Given the description of an element on the screen output the (x, y) to click on. 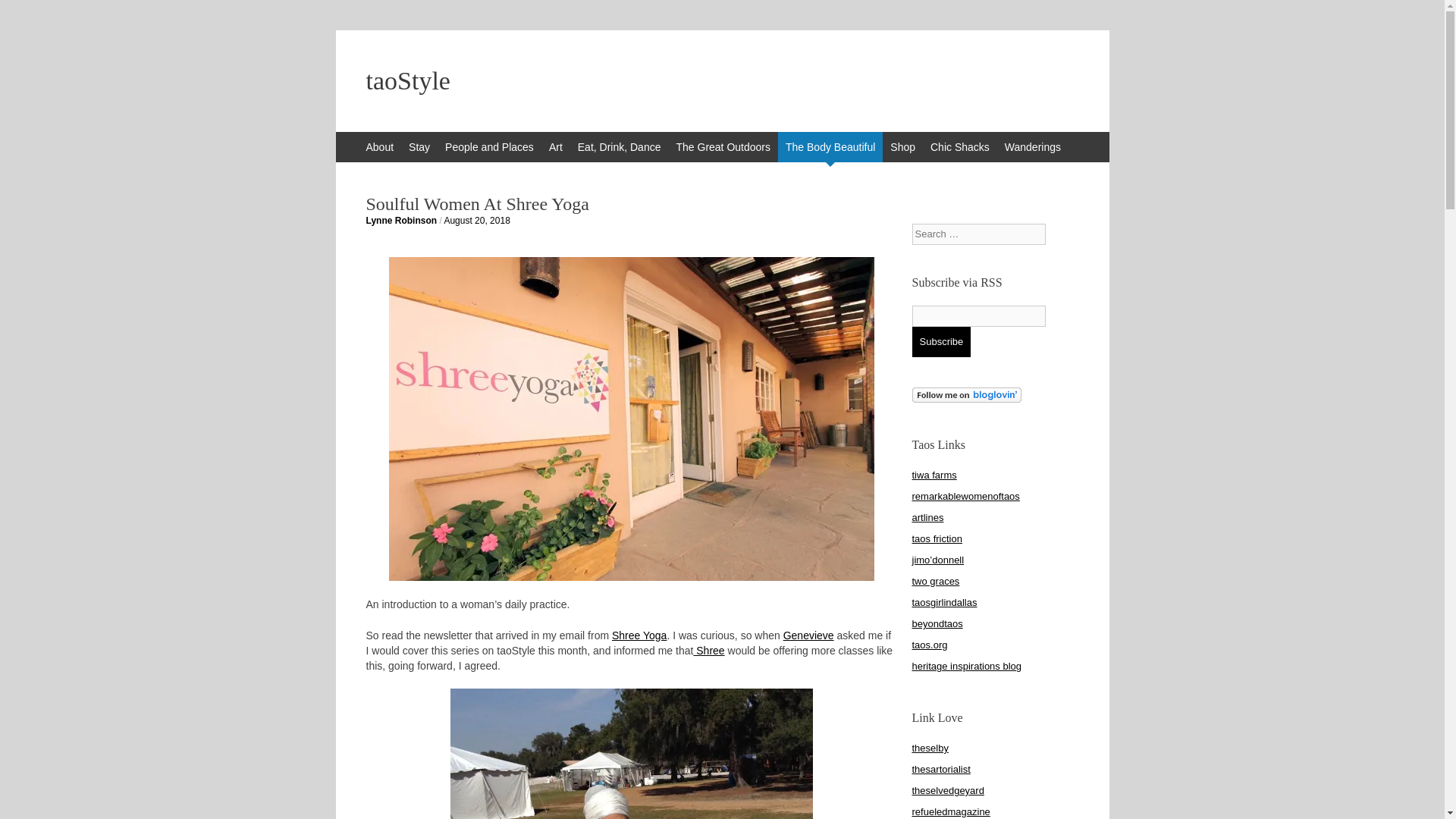
The Body Beautiful (829, 146)
The Great Outdoors (722, 146)
Stay (419, 146)
August 20, 2018 (476, 220)
Art (555, 146)
Shree (708, 650)
Search (23, 15)
People and Places (489, 146)
taoStyle (721, 80)
Wanderings (1032, 146)
About (379, 146)
Subscribe (941, 341)
taoStyle (721, 80)
Chic Shacks (960, 146)
Eat, Drink, Dance (619, 146)
